Given the description of an element on the screen output the (x, y) to click on. 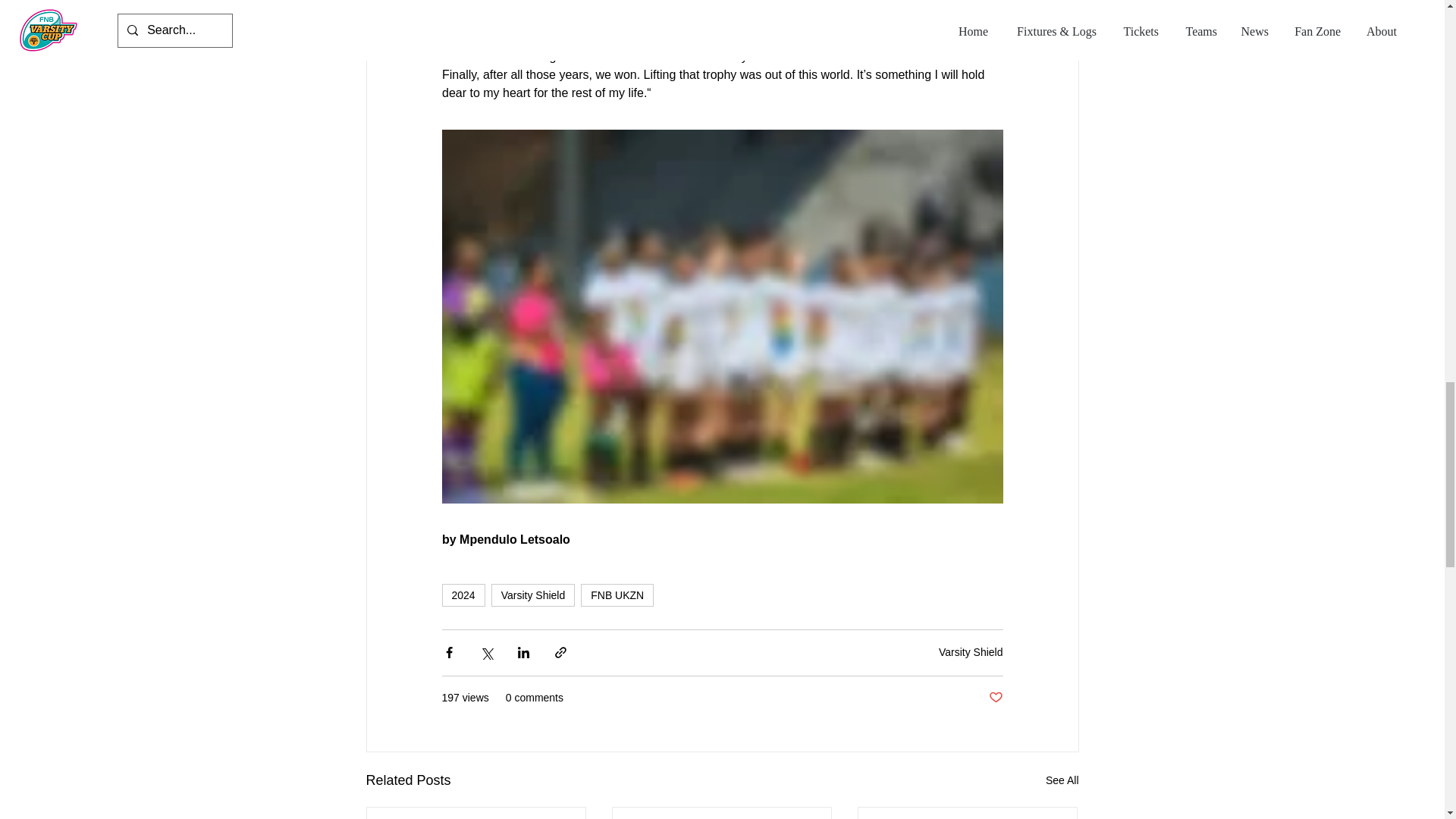
Varsity Shield (971, 652)
Post not marked as liked (995, 697)
2024 (462, 594)
FNB UKZN (616, 594)
See All (1061, 780)
Varsity Shield (533, 594)
